Given the description of an element on the screen output the (x, y) to click on. 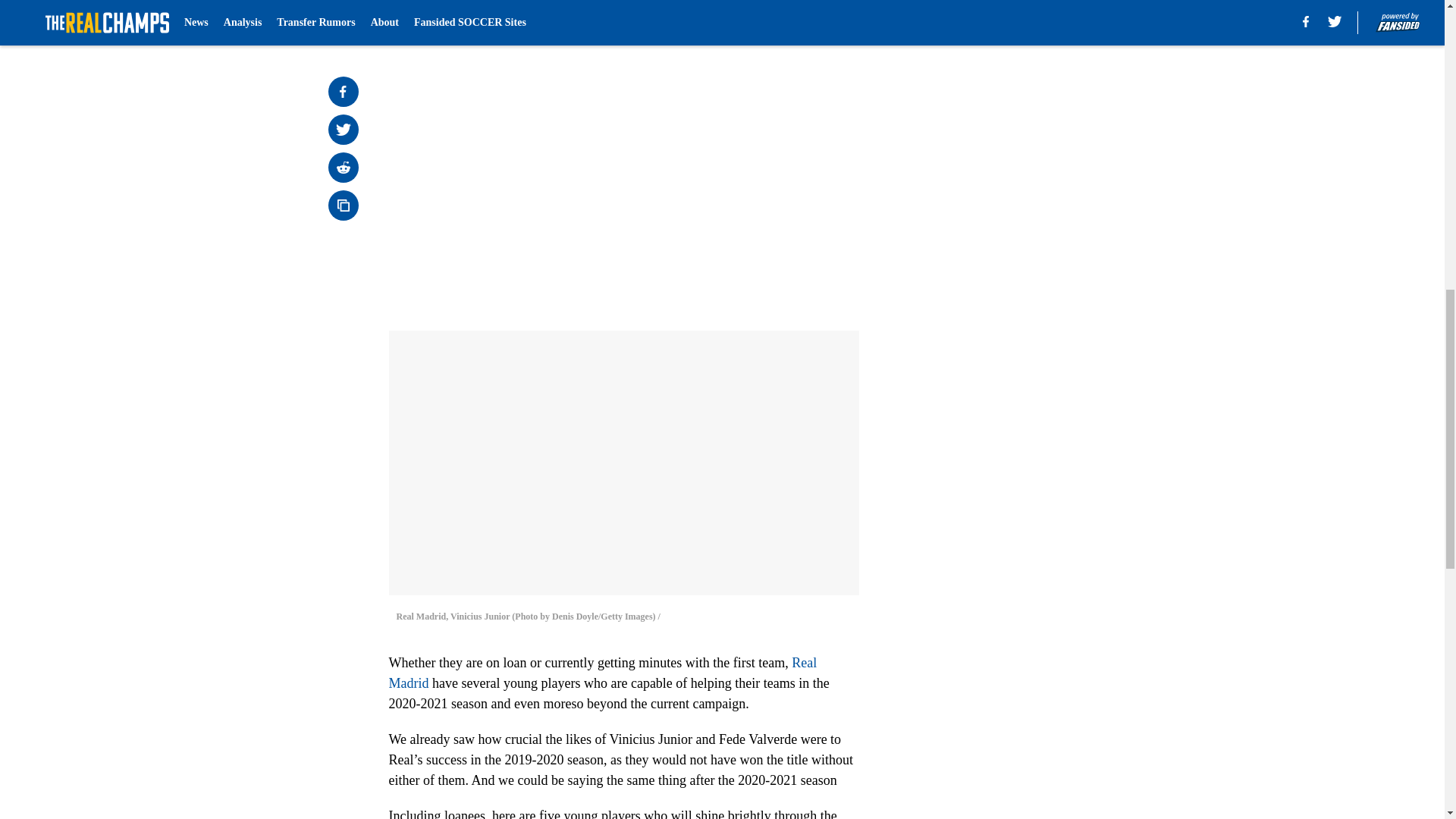
Next (813, 20)
Real Madrid (602, 673)
Prev (433, 20)
